Given the description of an element on the screen output the (x, y) to click on. 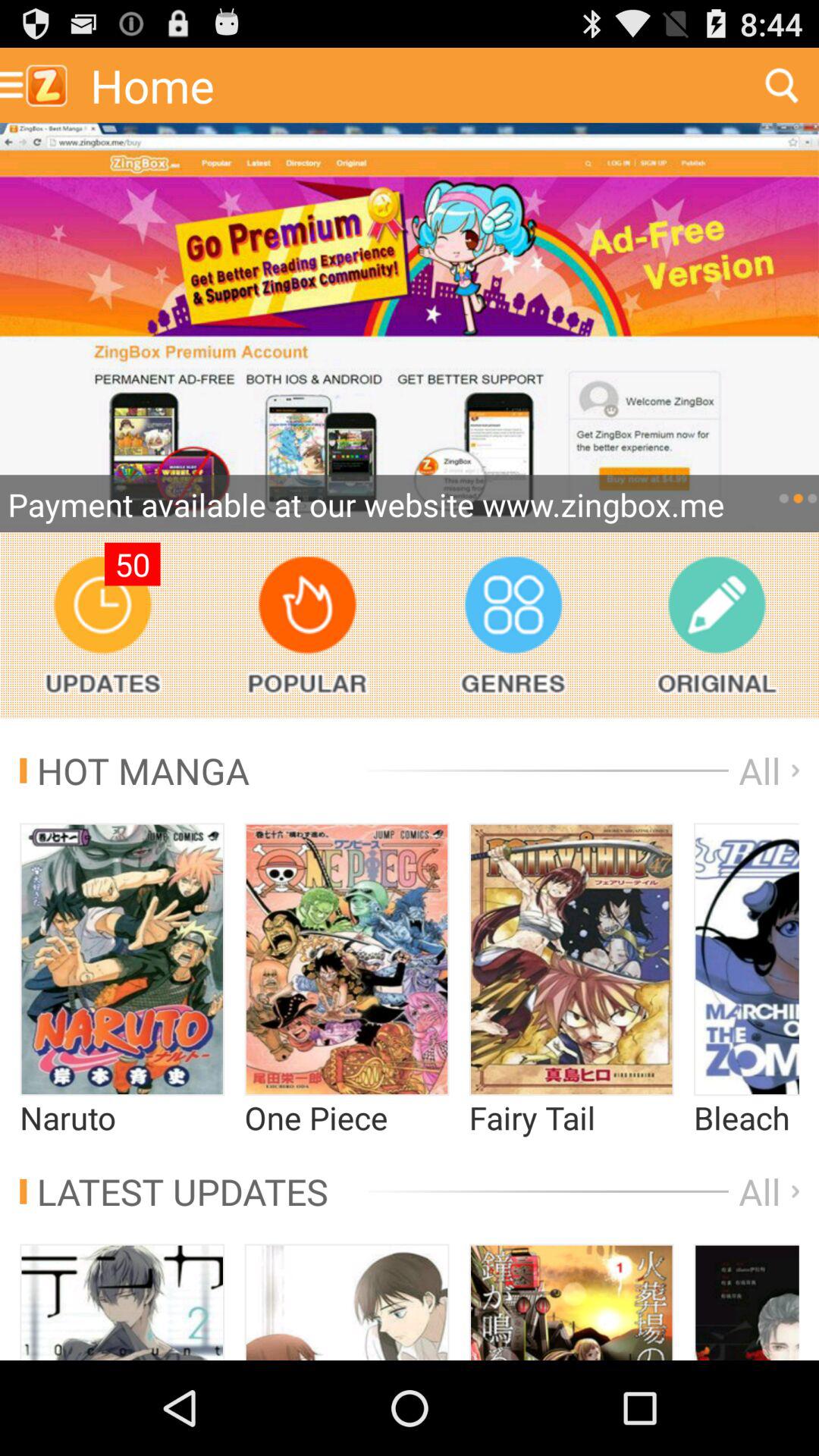
see details about this one (746, 1301)
